Given the description of an element on the screen output the (x, y) to click on. 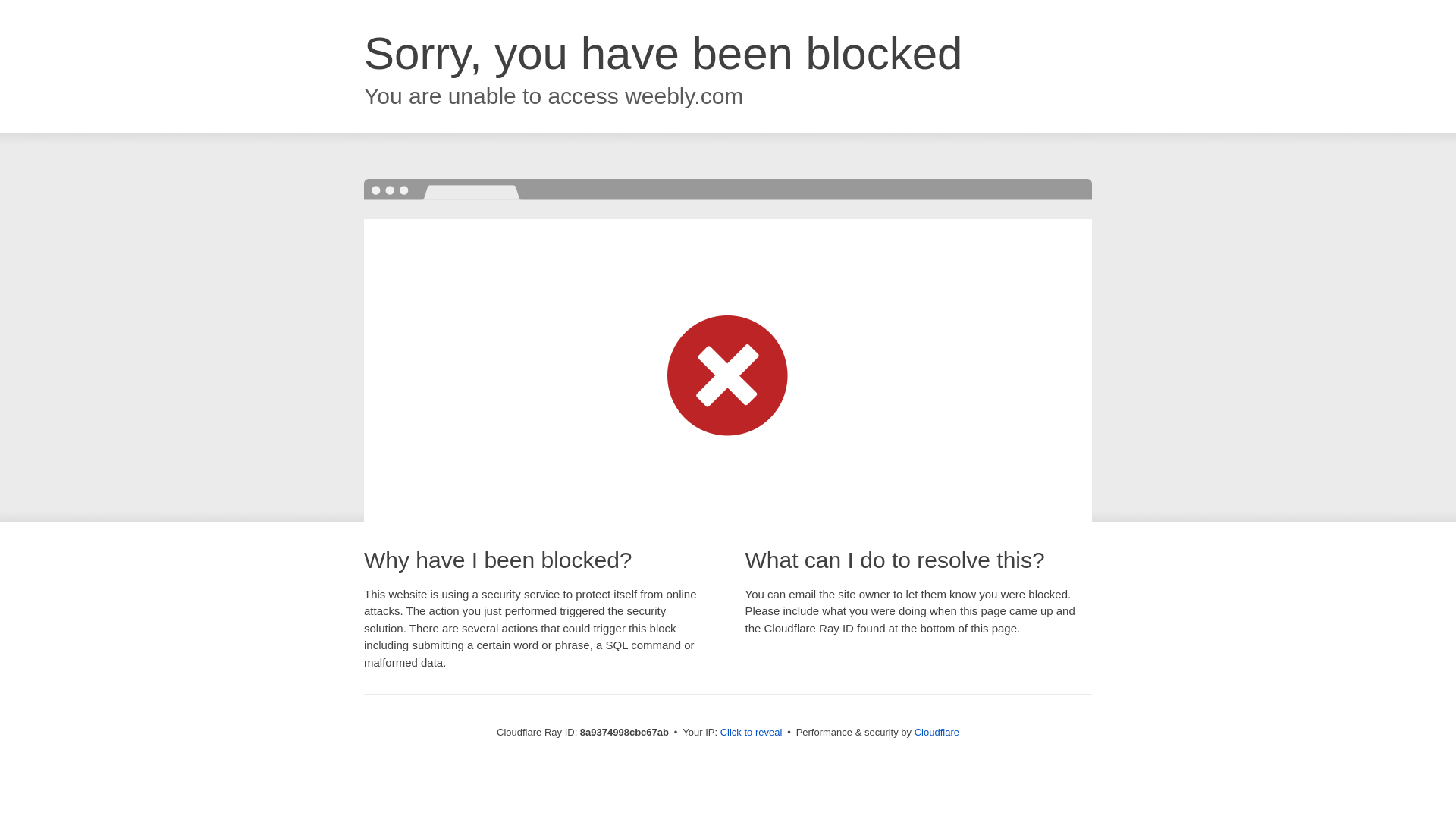
Cloudflare (936, 731)
Click to reveal (751, 732)
